Given the description of an element on the screen output the (x, y) to click on. 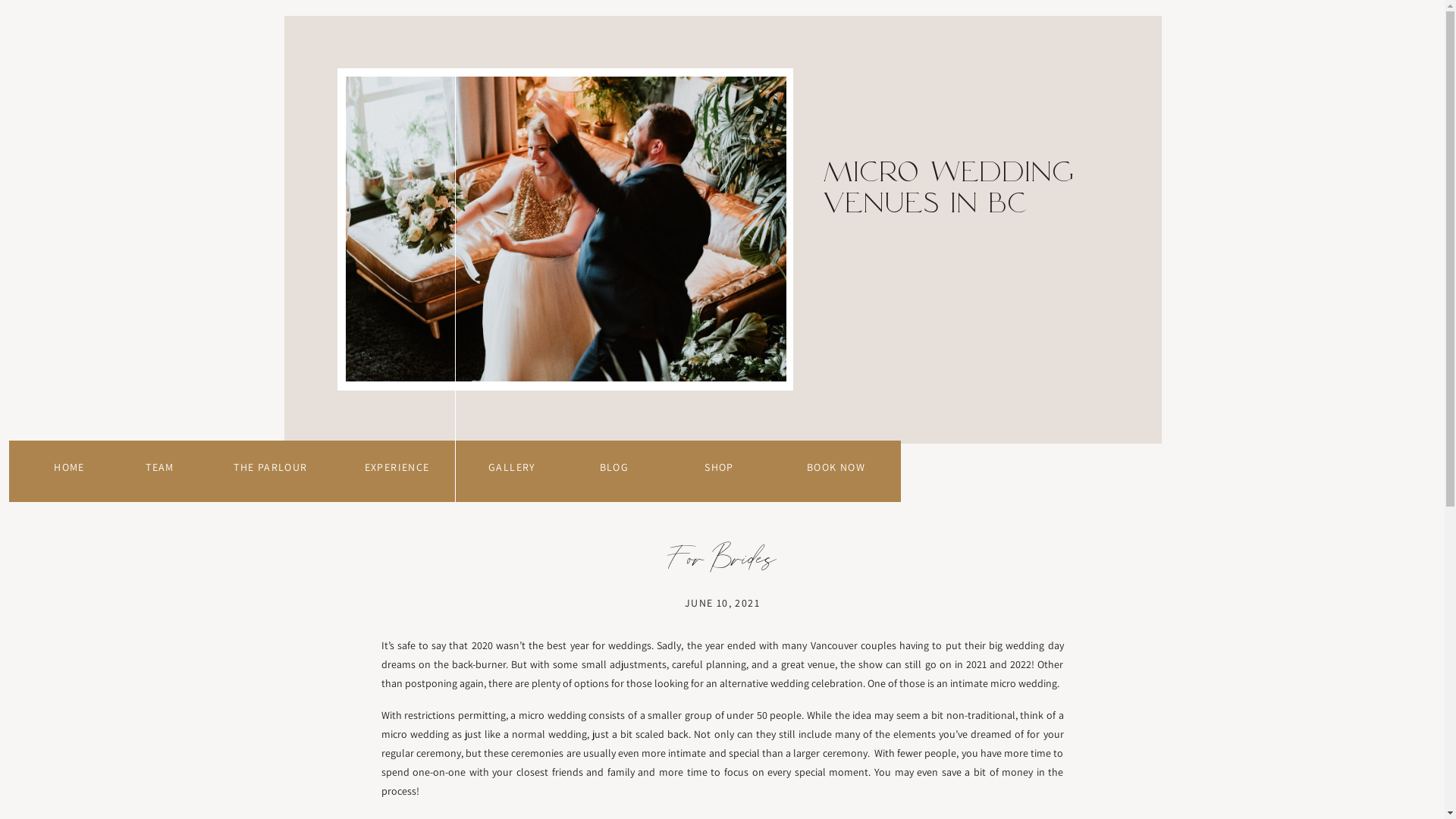
EXPERIENCE Element type: text (396, 465)
HOME Element type: text (69, 465)
GALLERY Element type: text (511, 465)
For Brides Element type: text (722, 559)
BLOG Element type: text (614, 465)
THE PARLOUR Element type: text (270, 465)
BOOK NOW Element type: text (835, 465)
TEAM Element type: text (159, 465)
SHOP Element type: text (719, 465)
